Given the description of an element on the screen output the (x, y) to click on. 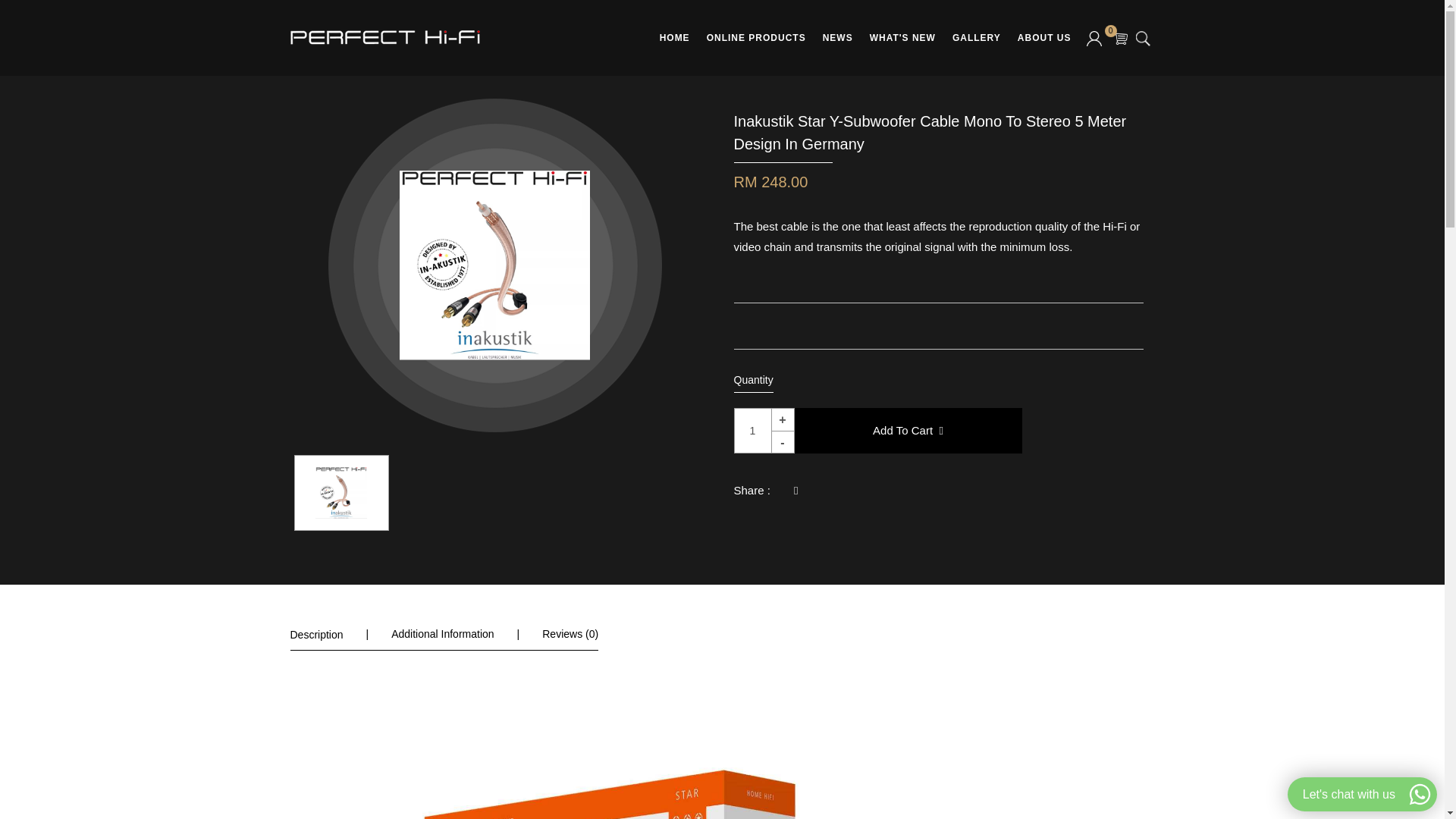
ONLINE PRODUCTS (755, 38)
- (782, 441)
ABOUT US (1044, 38)
Additional Information (442, 634)
WHAT'S NEW (902, 38)
Description (315, 634)
0 (1120, 37)
Add To Cart   (908, 430)
